Given the description of an element on the screen output the (x, y) to click on. 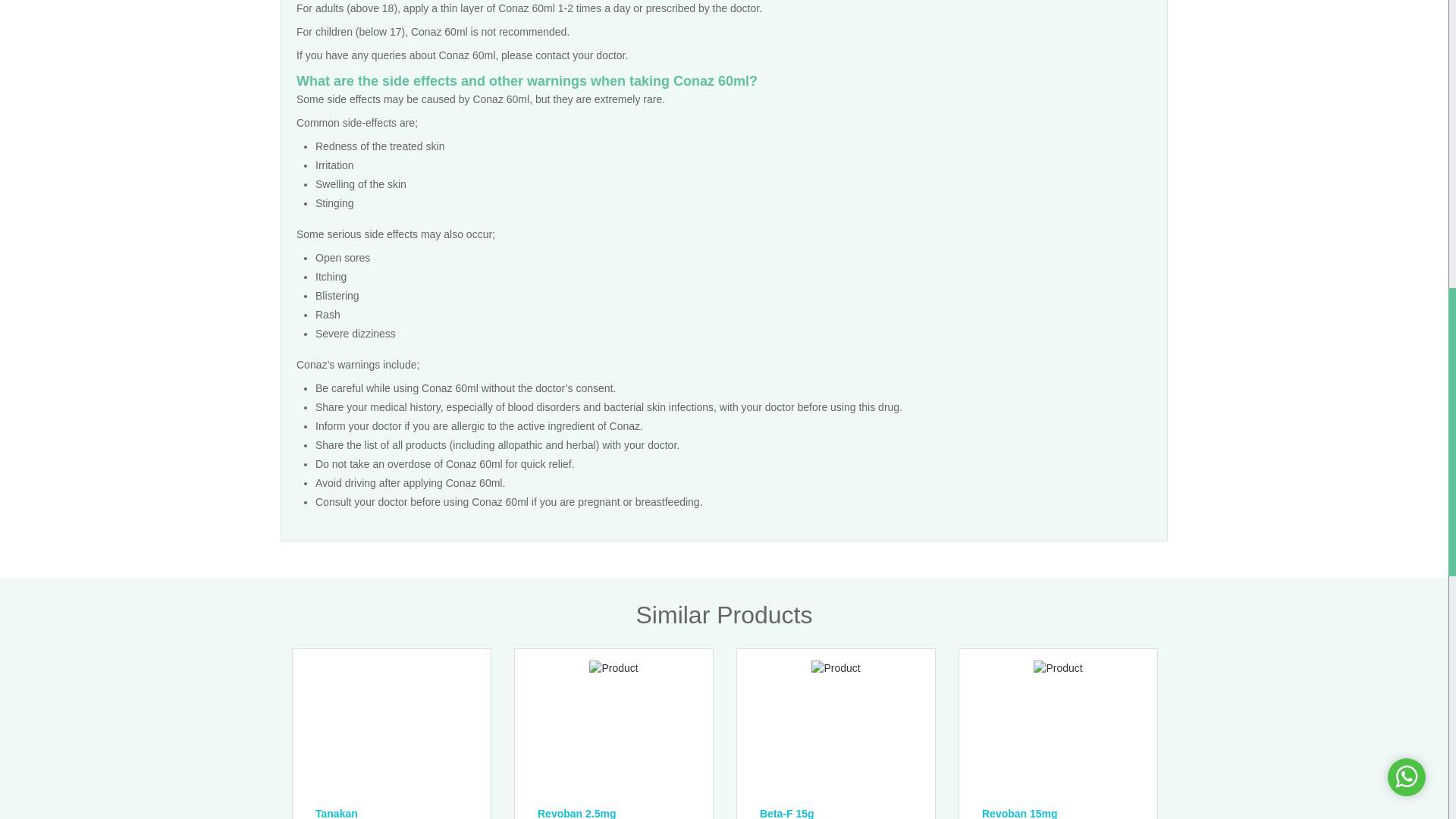
Beta-F 15g (841, 811)
Tanakan (397, 811)
Revoban 2.5mg (619, 811)
Revoban 15mg (1063, 811)
